Given the description of an element on the screen output the (x, y) to click on. 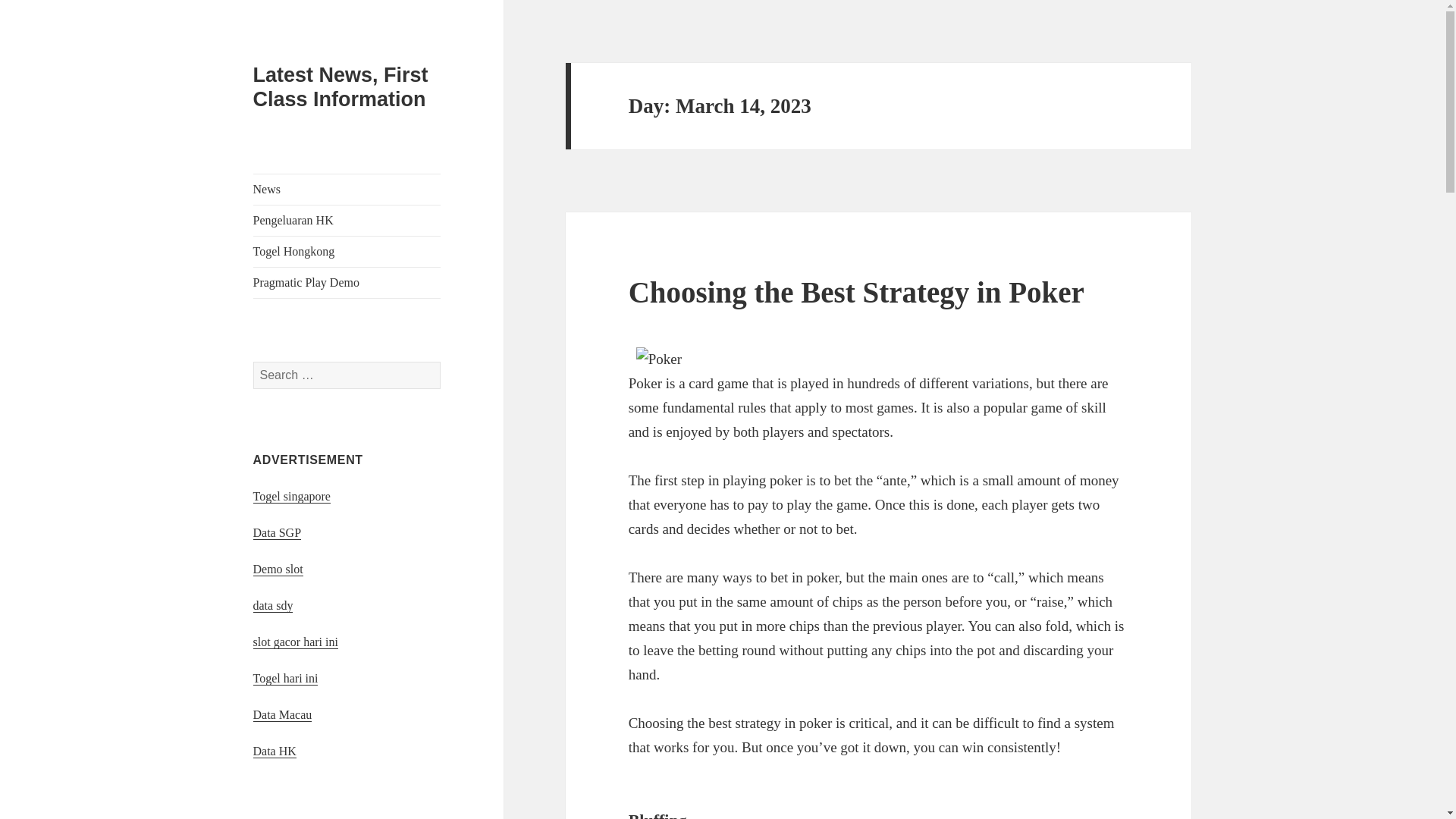
Pengeluaran HK (347, 220)
data sdy (273, 605)
Latest News, First Class Information (340, 86)
Togel singapore (291, 496)
slot gacor hari ini (295, 642)
Demo slot (277, 569)
Togel Hongkong (347, 251)
